Given the description of an element on the screen output the (x, y) to click on. 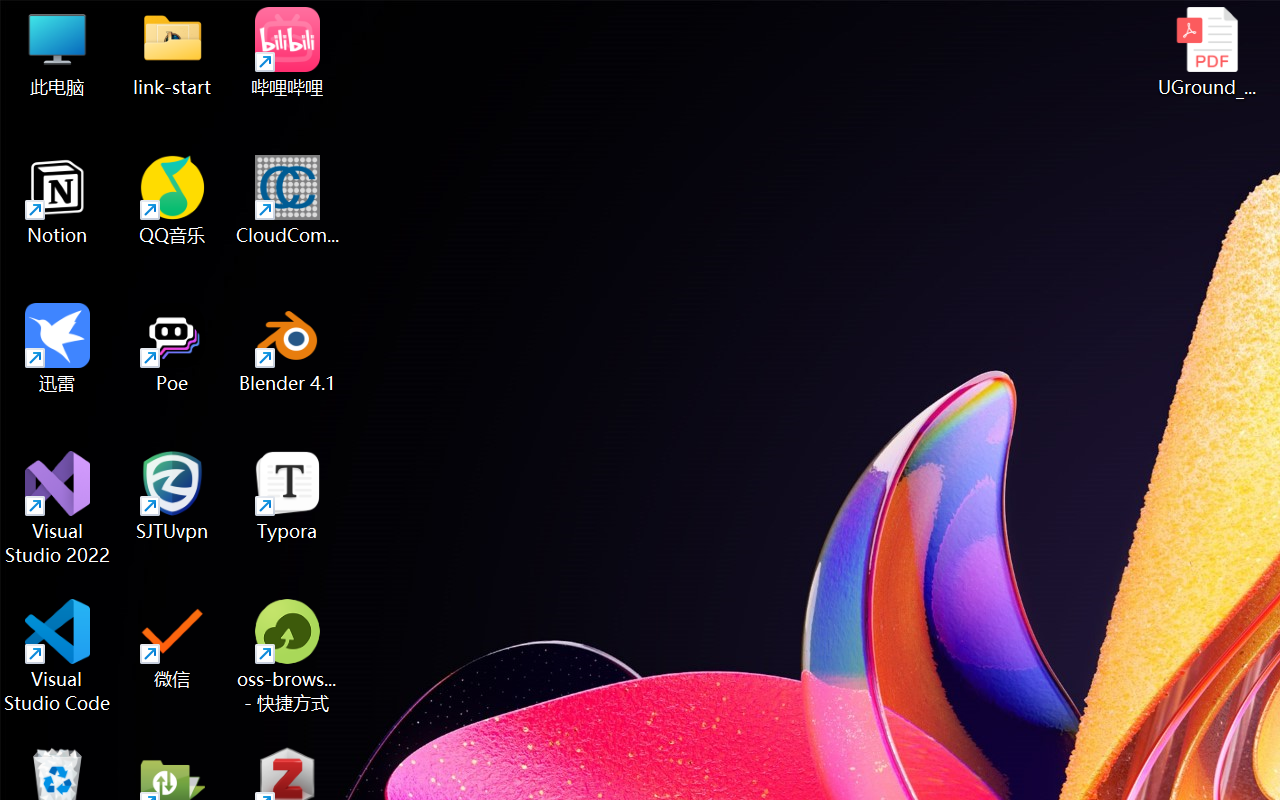
Visual Studio 2022 (57, 508)
Blender 4.1 (287, 348)
Visual Studio Code (57, 656)
Typora (287, 496)
UGround_paper.pdf (1206, 52)
CloudCompare (287, 200)
SJTUvpn (172, 496)
